Given the description of an element on the screen output the (x, y) to click on. 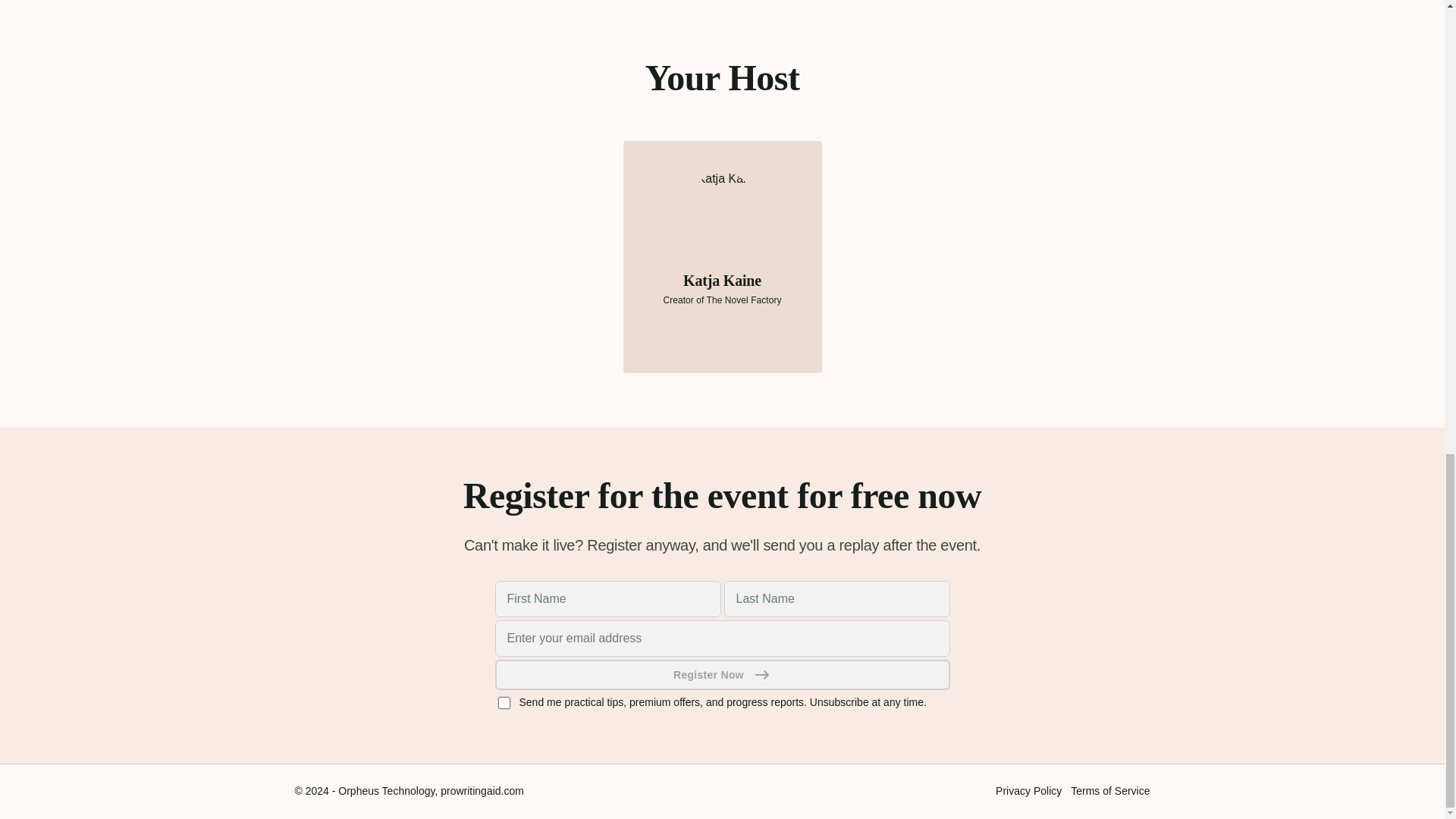
Register Now (722, 675)
Privacy Policy (1028, 790)
Terms of Service (1110, 790)
